Given the description of an element on the screen output the (x, y) to click on. 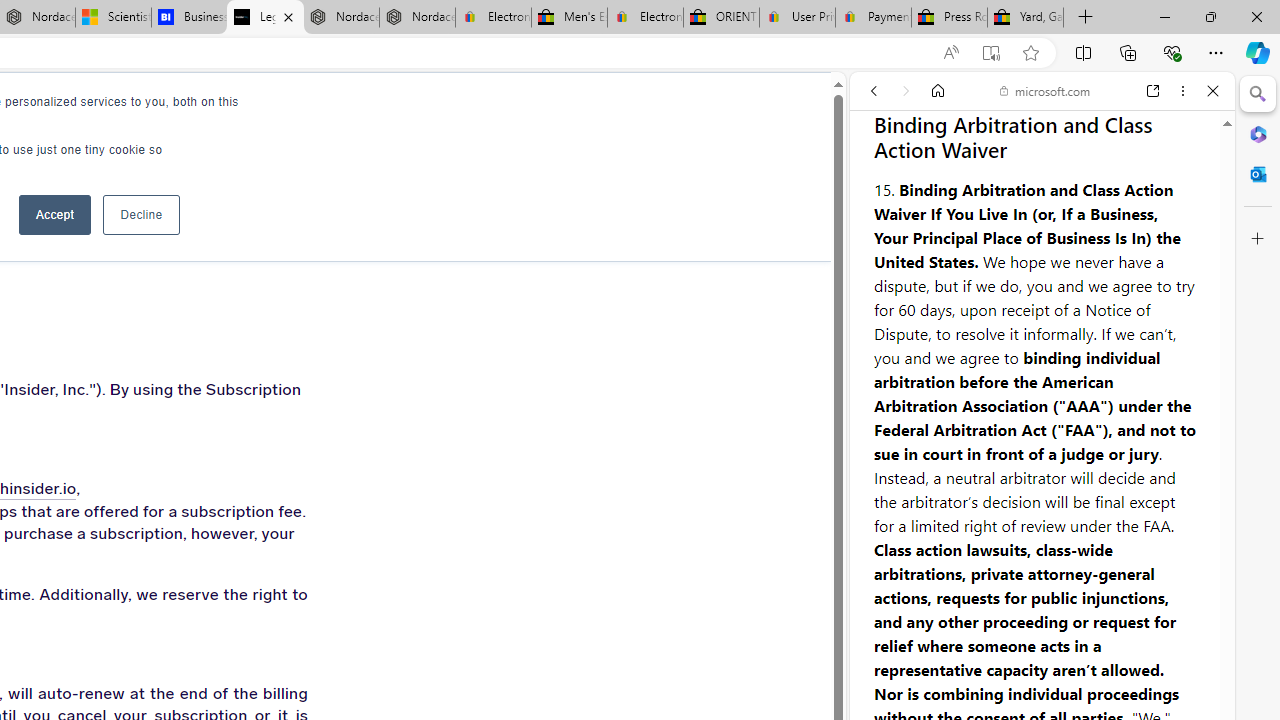
microsoft.com (1045, 90)
Decline (141, 214)
